Given the description of an element on the screen output the (x, y) to click on. 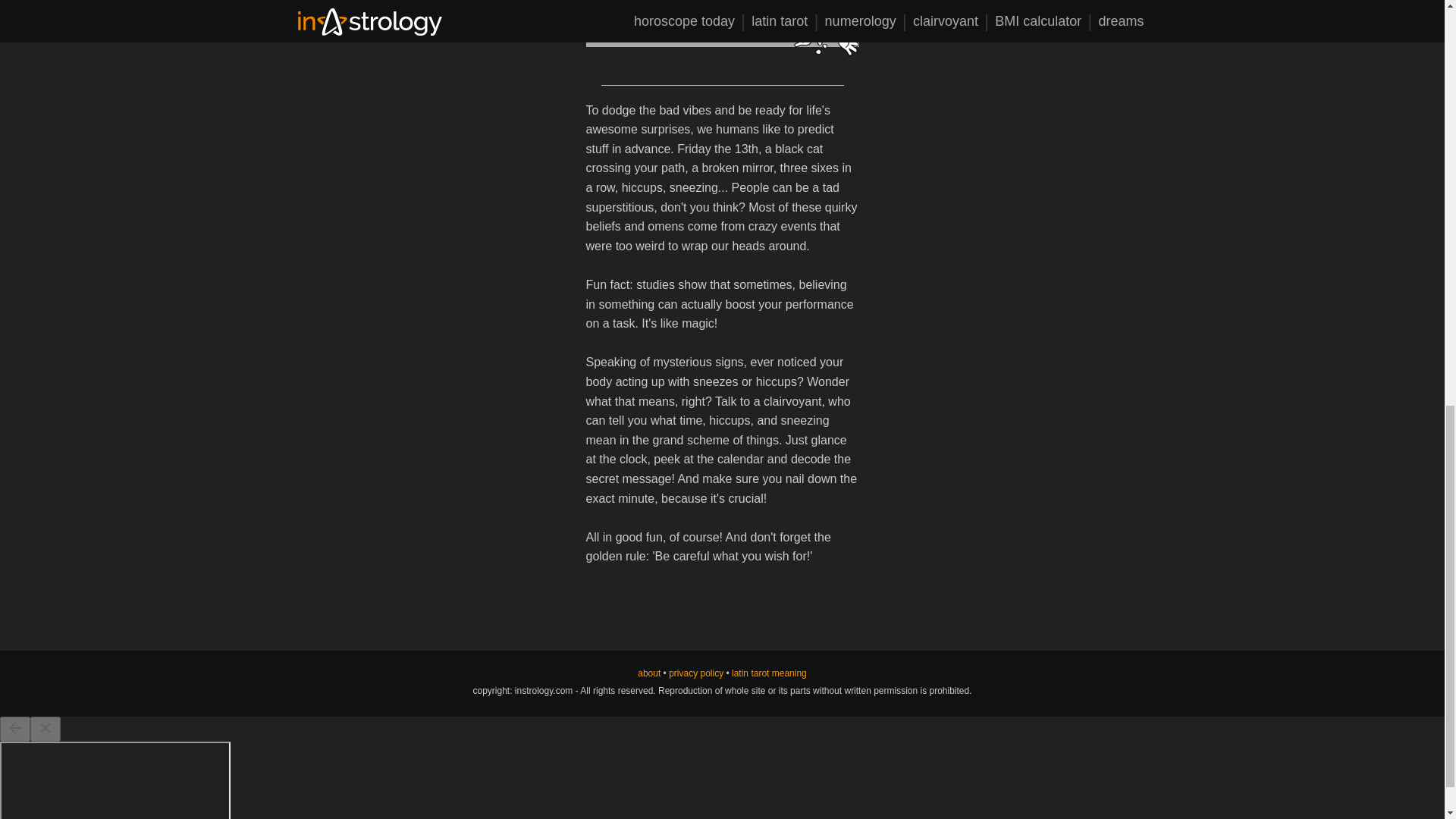
sat (771, 28)
tue (665, 28)
wed (695, 28)
sun (604, 28)
mon (635, 28)
thu (724, 28)
